Given the description of an element on the screen output the (x, y) to click on. 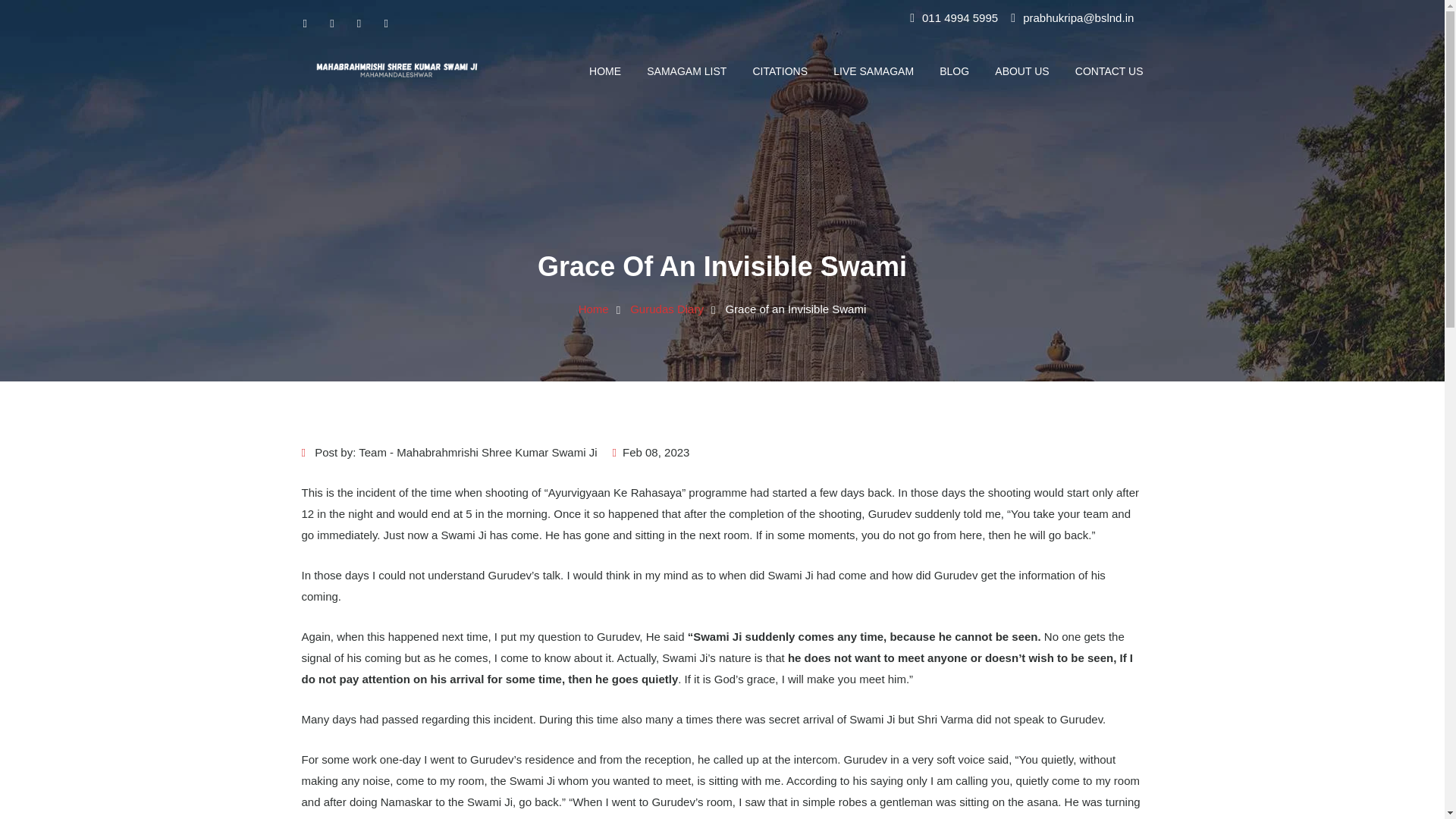
BLOG (953, 70)
HOME (604, 70)
ABOUT US (1021, 70)
SAMAGAM LIST (686, 70)
CONTACT US (1103, 70)
ABOUT US (1021, 70)
CITATIONS (779, 70)
Gurudas Diary (666, 308)
011 4994 5995 (959, 17)
LIVE SAMAGAM (873, 70)
CONTACT US (1103, 70)
SAMAGAM LIST (686, 70)
Team - Mahabrahmrishi Shree Kumar Swami Ji (477, 451)
Home (593, 308)
HOME (604, 70)
